Given the description of an element on the screen output the (x, y) to click on. 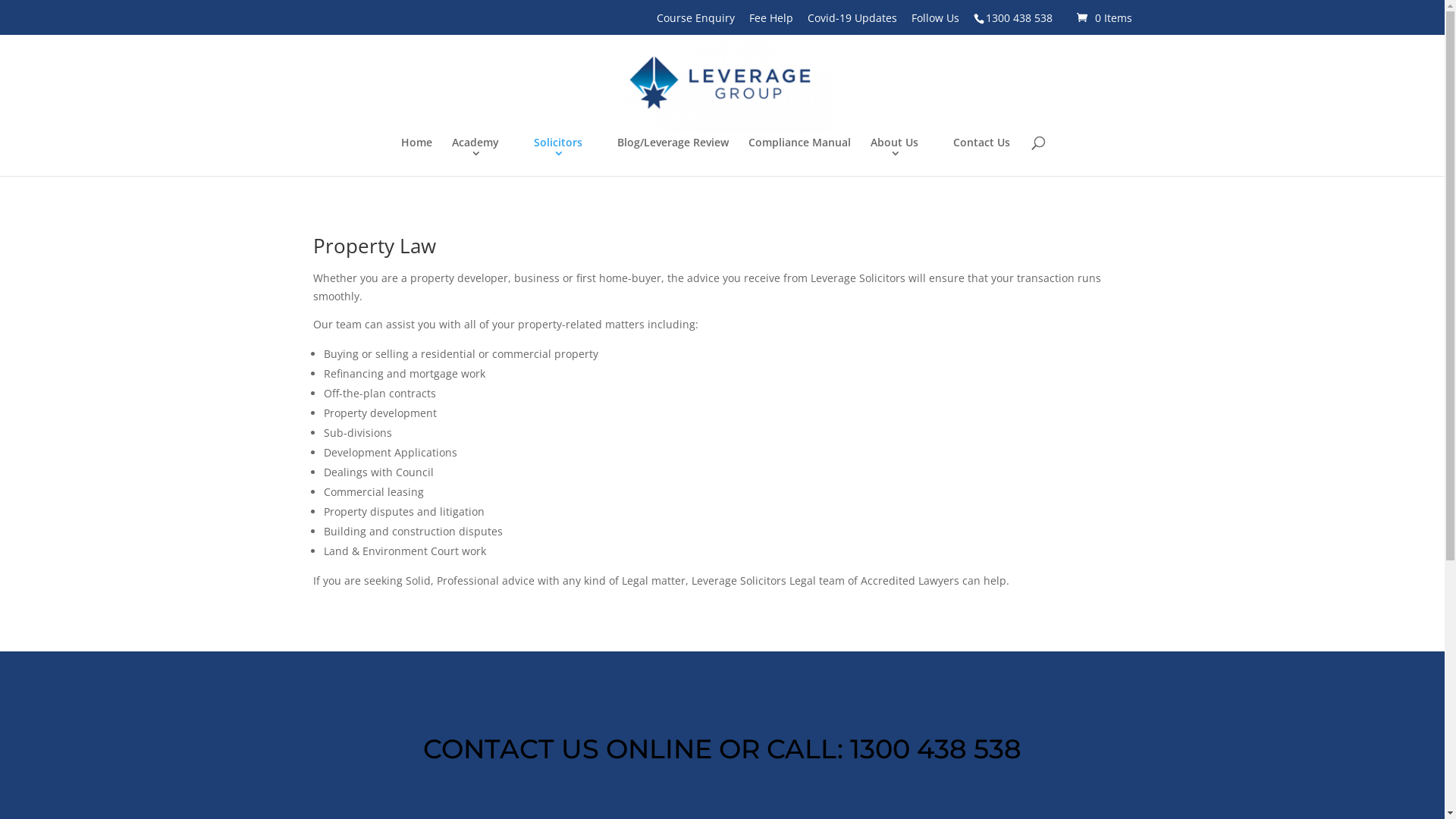
Home Element type: text (416, 151)
Compliance Manual Element type: text (799, 151)
CONTACT US ONLINE Element type: text (567, 748)
About Us Element type: text (901, 156)
0 Items Element type: text (1102, 17)
Contact Us Element type: text (981, 151)
Course Enquiry Element type: text (695, 21)
Follow Us Element type: text (935, 21)
Fee Help Element type: text (771, 21)
Blog/Leverage Review Element type: text (672, 151)
1300 438 538 Element type: text (1017, 21)
Academy Element type: text (482, 156)
1300 438 538 Element type: text (935, 748)
Covid-19 Updates Element type: text (851, 21)
Solicitors Element type: text (565, 156)
